Given the description of an element on the screen output the (x, y) to click on. 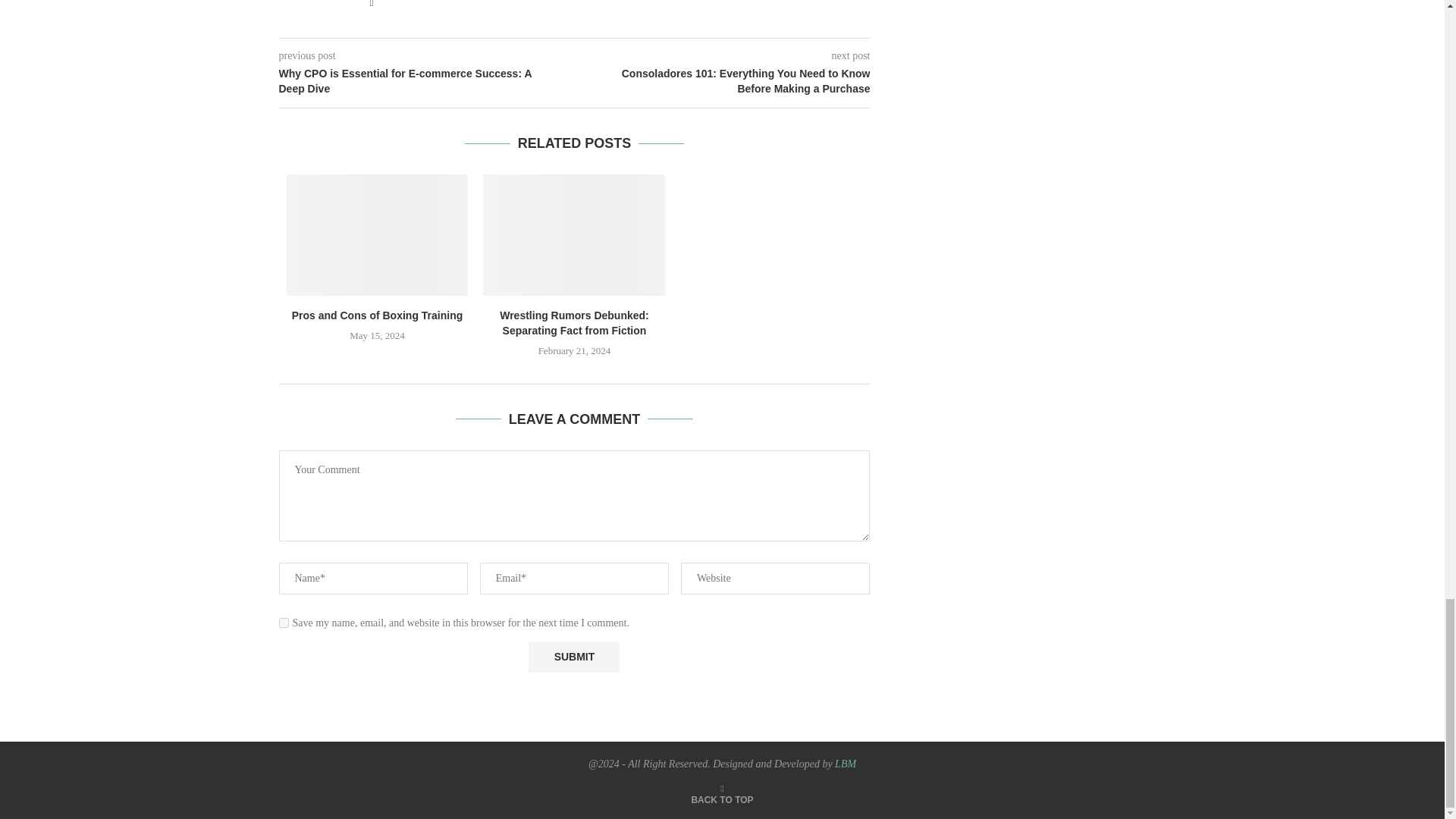
Submit (574, 656)
Pros and Cons of Boxing Training (377, 234)
Wrestling Rumors Debunked: Separating Fact from Fiction (574, 234)
yes (283, 623)
